Given the description of an element on the screen output the (x, y) to click on. 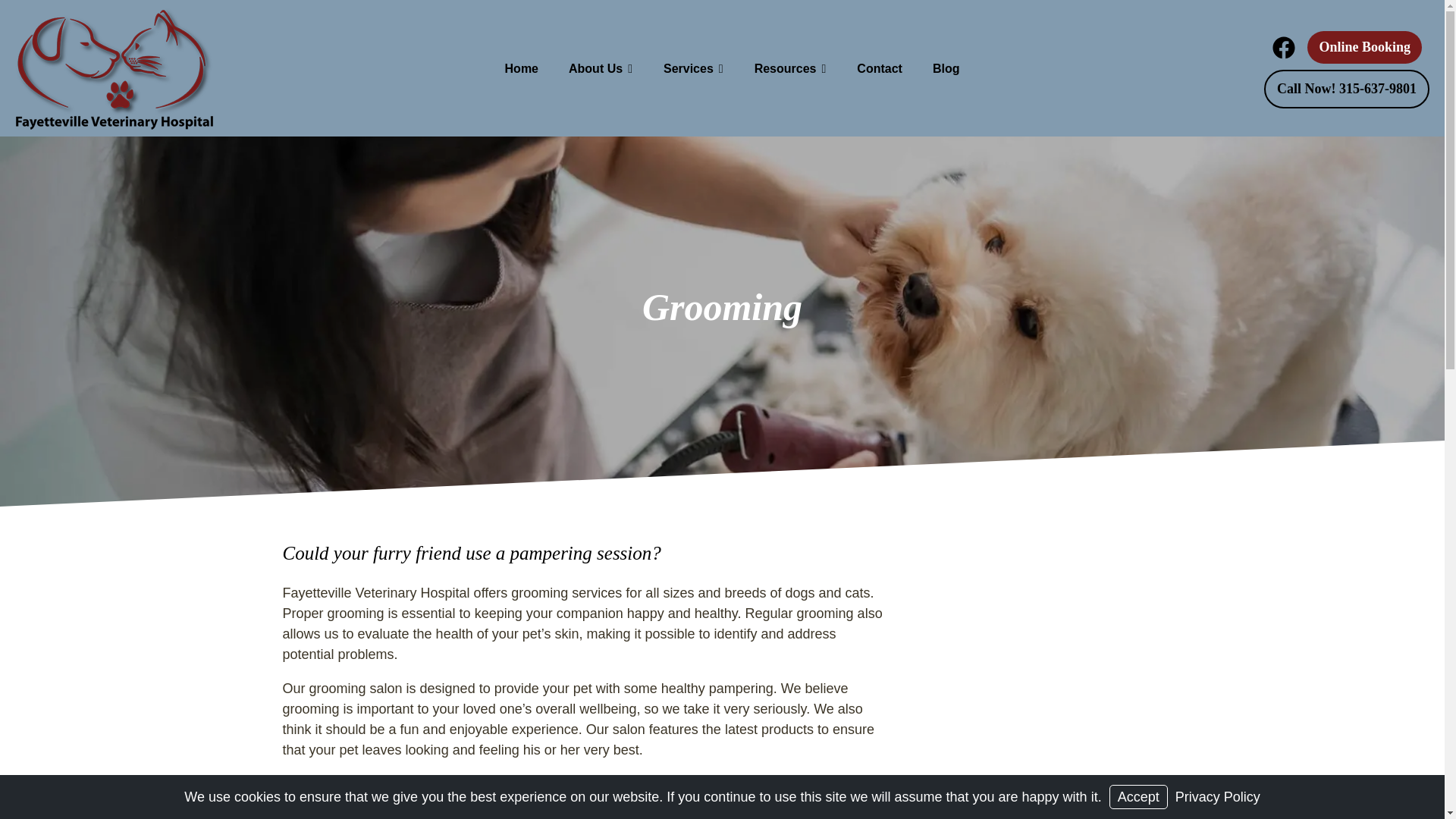
Services (693, 68)
Home (521, 68)
About Us (601, 68)
